Given the description of an element on the screen output the (x, y) to click on. 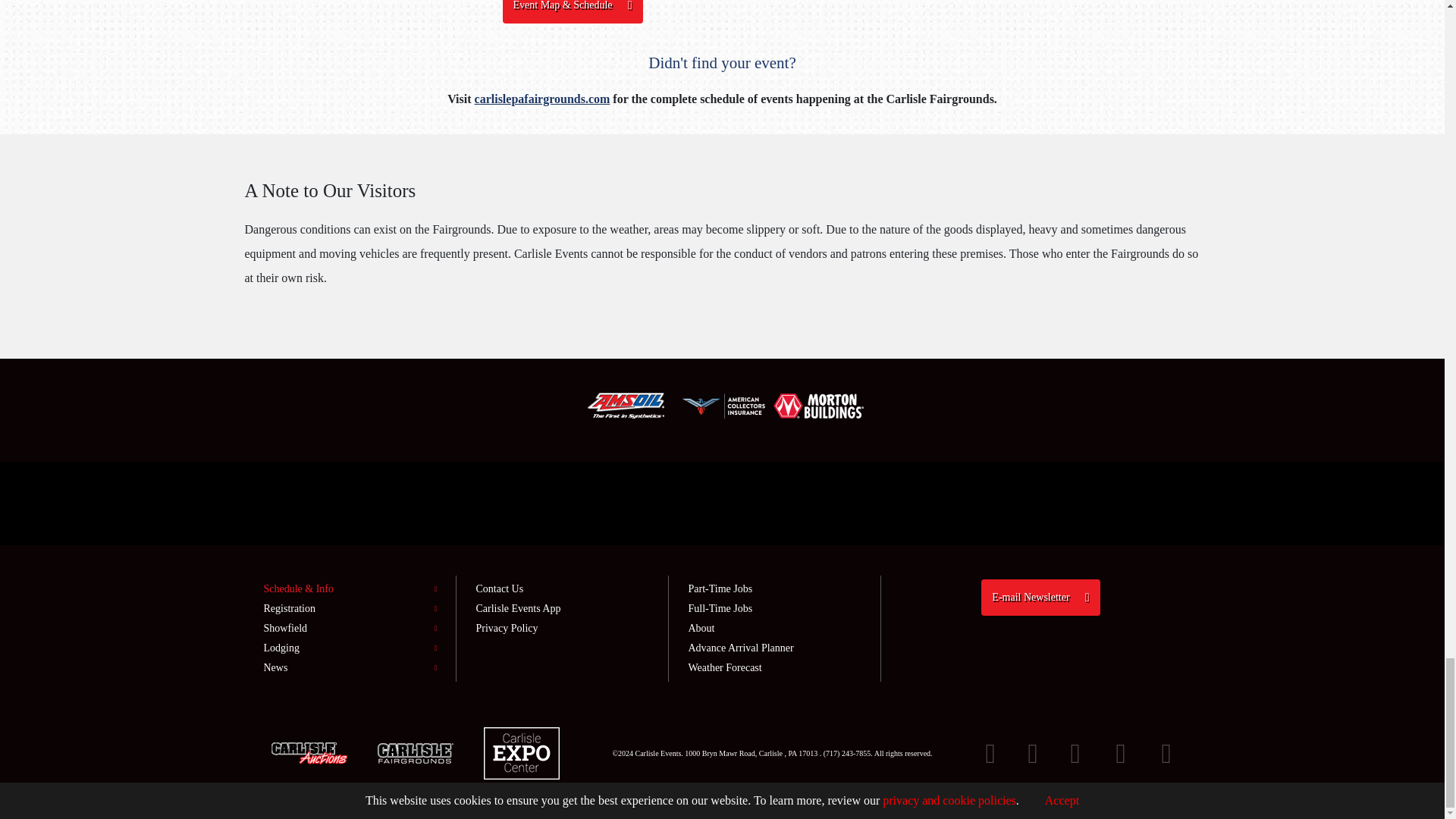
Footer Logo 125x125 - Morton Buildings (818, 405)
3rd party ad content (721, 503)
